Given the description of an element on the screen output the (x, y) to click on. 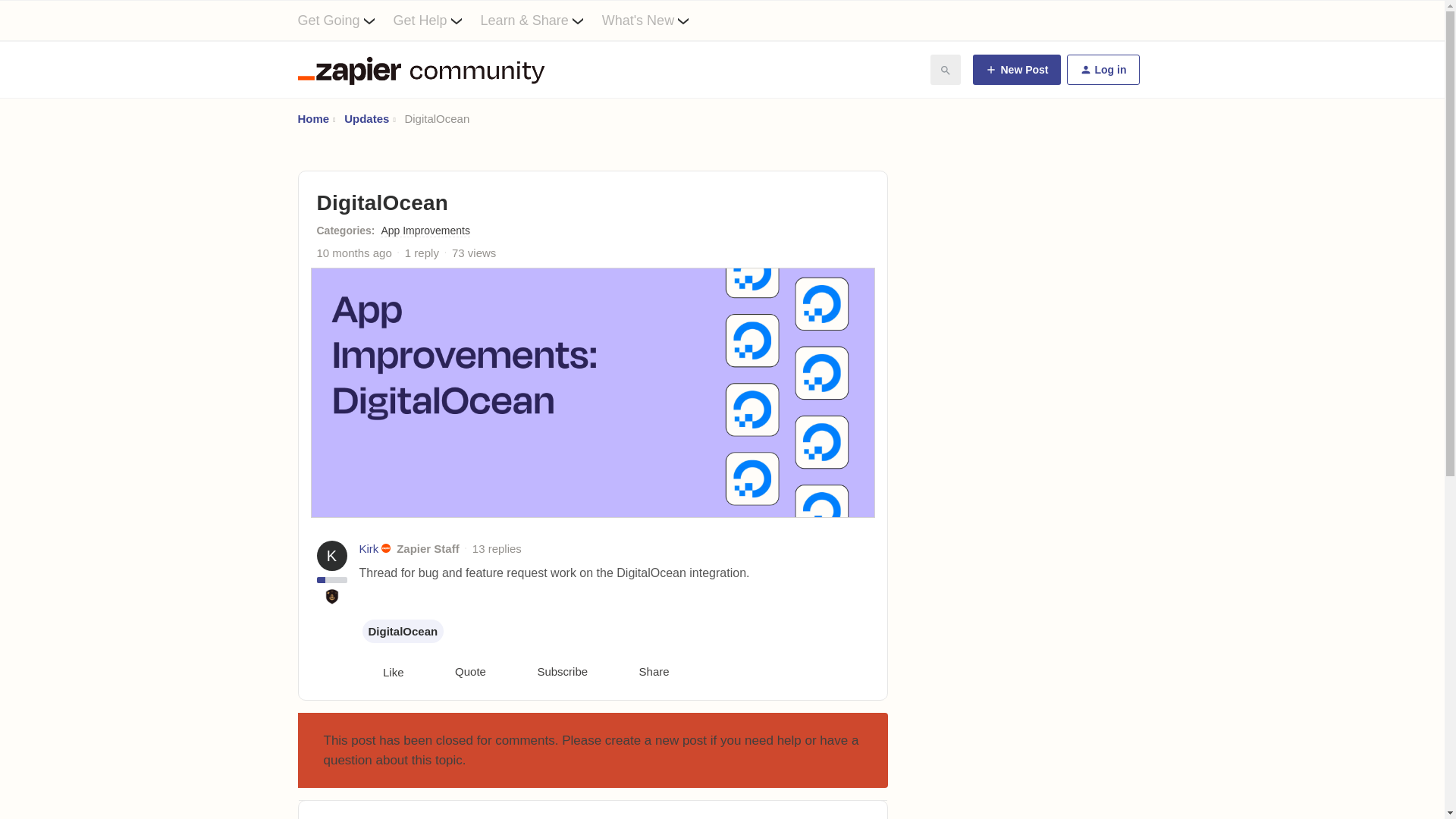
Get Going (345, 20)
Get Help (436, 20)
Home (313, 118)
New Post (1015, 69)
What's New (654, 20)
Zapier Staff (428, 548)
New Post (1015, 69)
Log in (1101, 69)
Updates (365, 118)
